Given the description of an element on the screen output the (x, y) to click on. 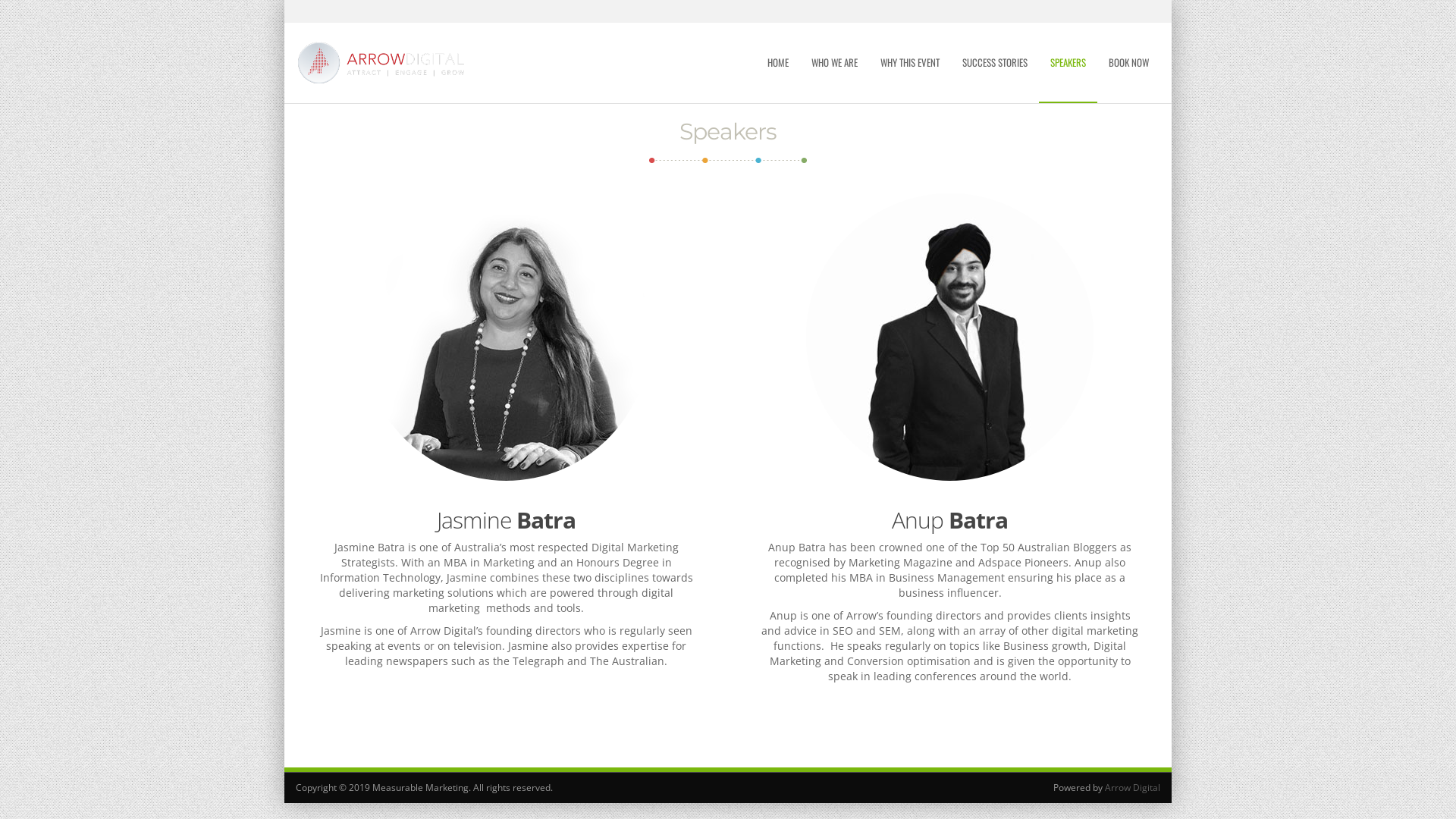
WHO WE ARE Element type: text (834, 61)
Arrow Digital Element type: text (1132, 787)
HOME Element type: text (778, 61)
Measurable Marketing Element type: hover (381, 62)
BOOK NOW Element type: text (1128, 61)
SUCCESS STORIES Element type: text (994, 61)
WHY THIS EVENT Element type: text (909, 61)
SPEAKERS Element type: text (1067, 62)
